Given the description of an element on the screen output the (x, y) to click on. 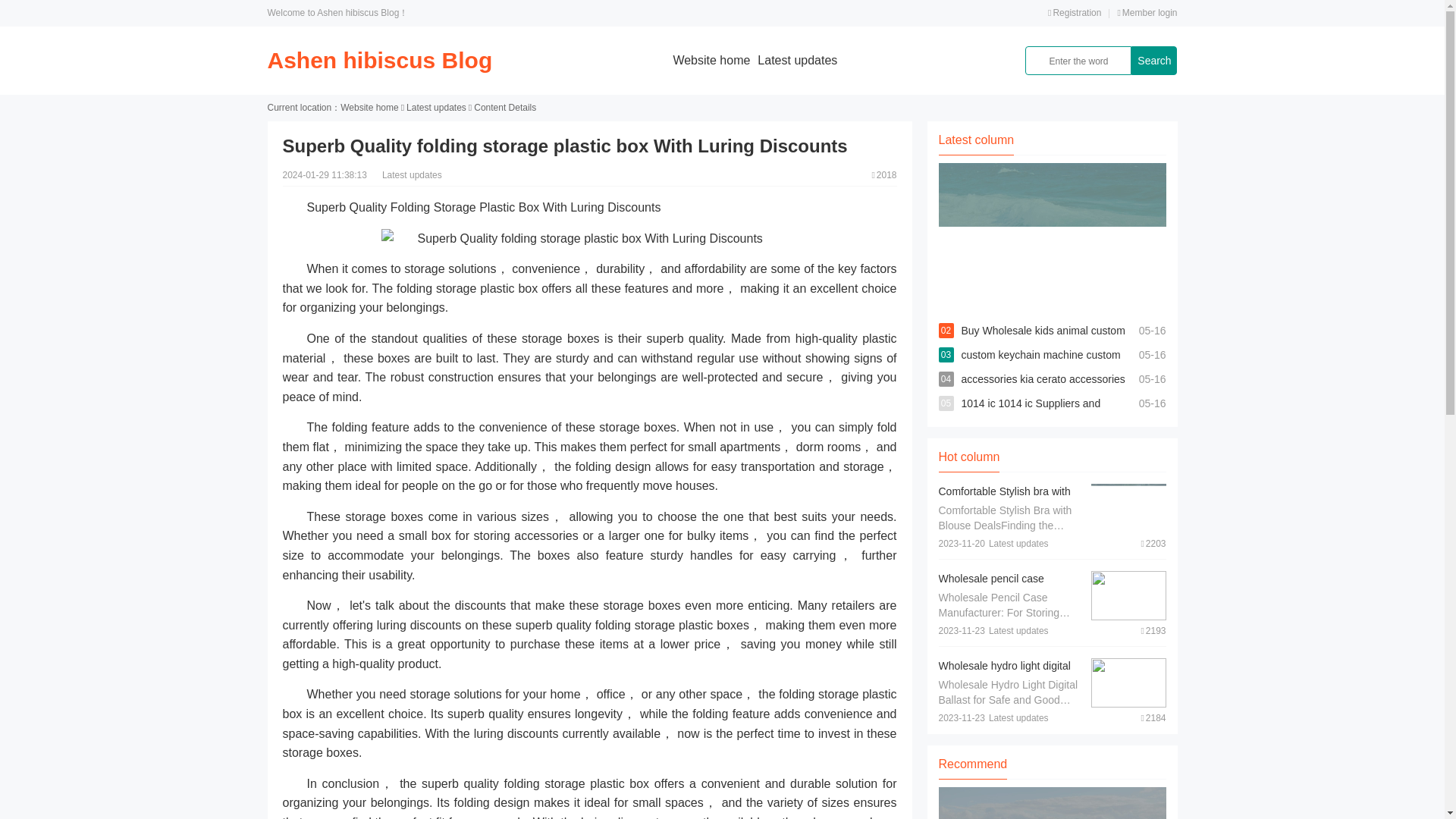
Latest updates (435, 107)
Latest updates (797, 60)
1014 ic 1014 ic Suppliers and Manufacturers (1030, 415)
Website home (710, 60)
Ashen hibiscus Blog (379, 59)
Registration (1074, 12)
Member login (1146, 12)
Website home (368, 107)
Search (1153, 60)
Comfortable Stylish bra with blouse Deals (1004, 498)
